Given the description of an element on the screen output the (x, y) to click on. 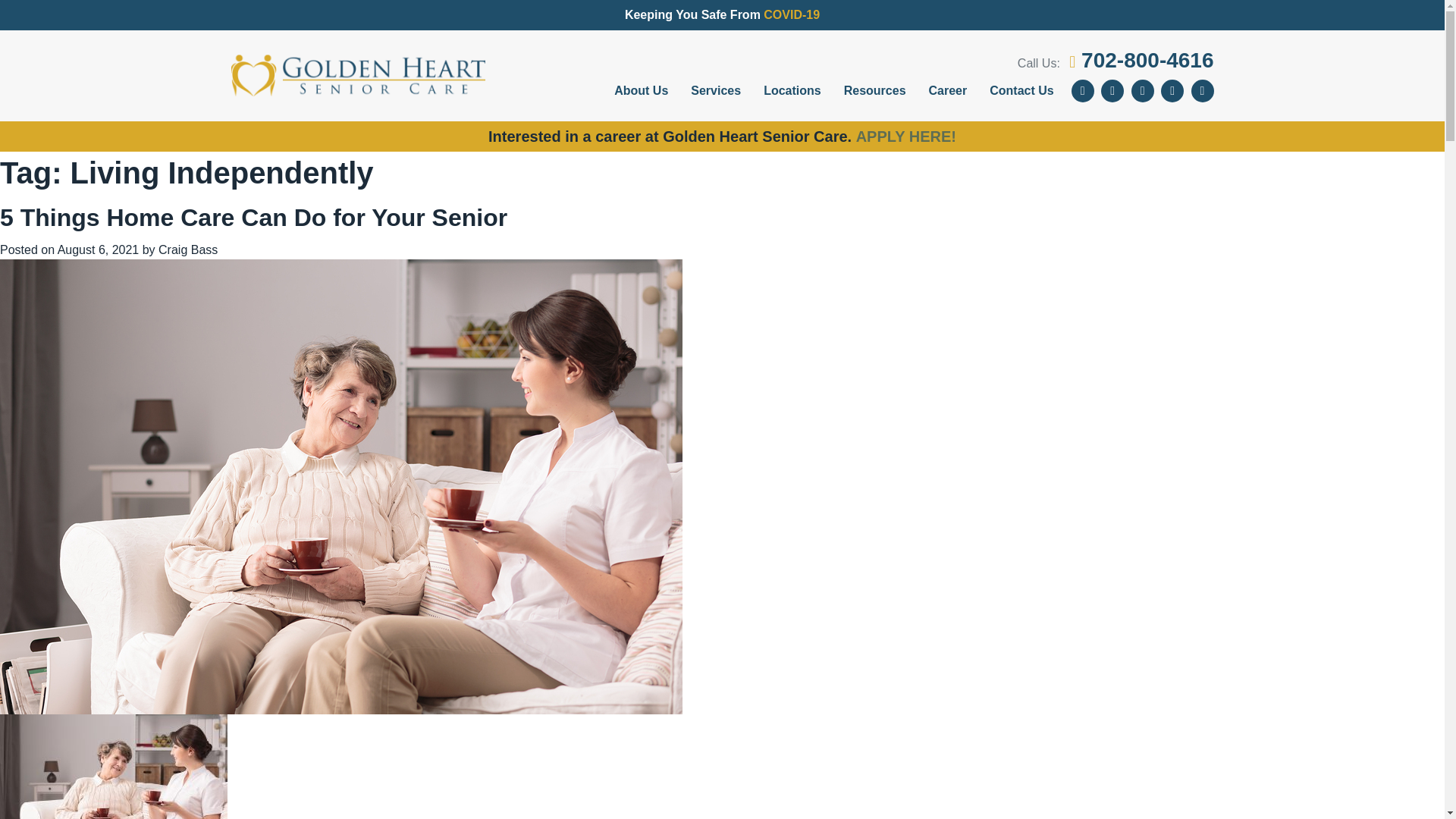
702-800-4616 (1140, 60)
Craig Bass (187, 249)
About Us (640, 91)
Resources (874, 91)
5 Things Home Care Can Do for Your Senior (253, 216)
Locations (792, 91)
Contact Us (1021, 91)
Apply here for career at Golden Heart Senior Care (906, 135)
August 6, 2021 (98, 249)
COVID-19 (790, 14)
Career (947, 91)
APPLY HERE! (906, 135)
Services (715, 91)
